Given the description of an element on the screen output the (x, y) to click on. 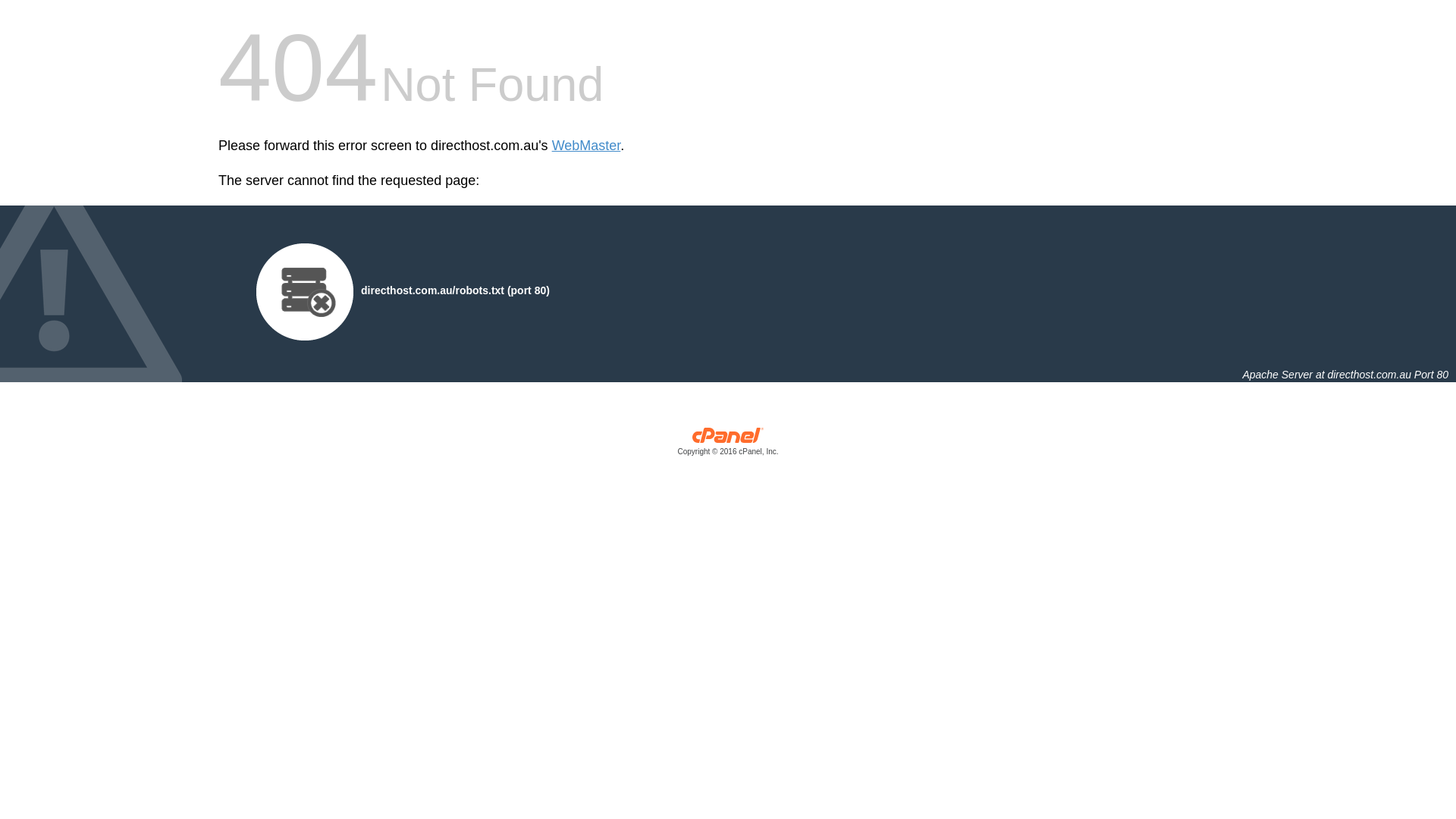
WebMaster Element type: text (586, 145)
